Given the description of an element on the screen output the (x, y) to click on. 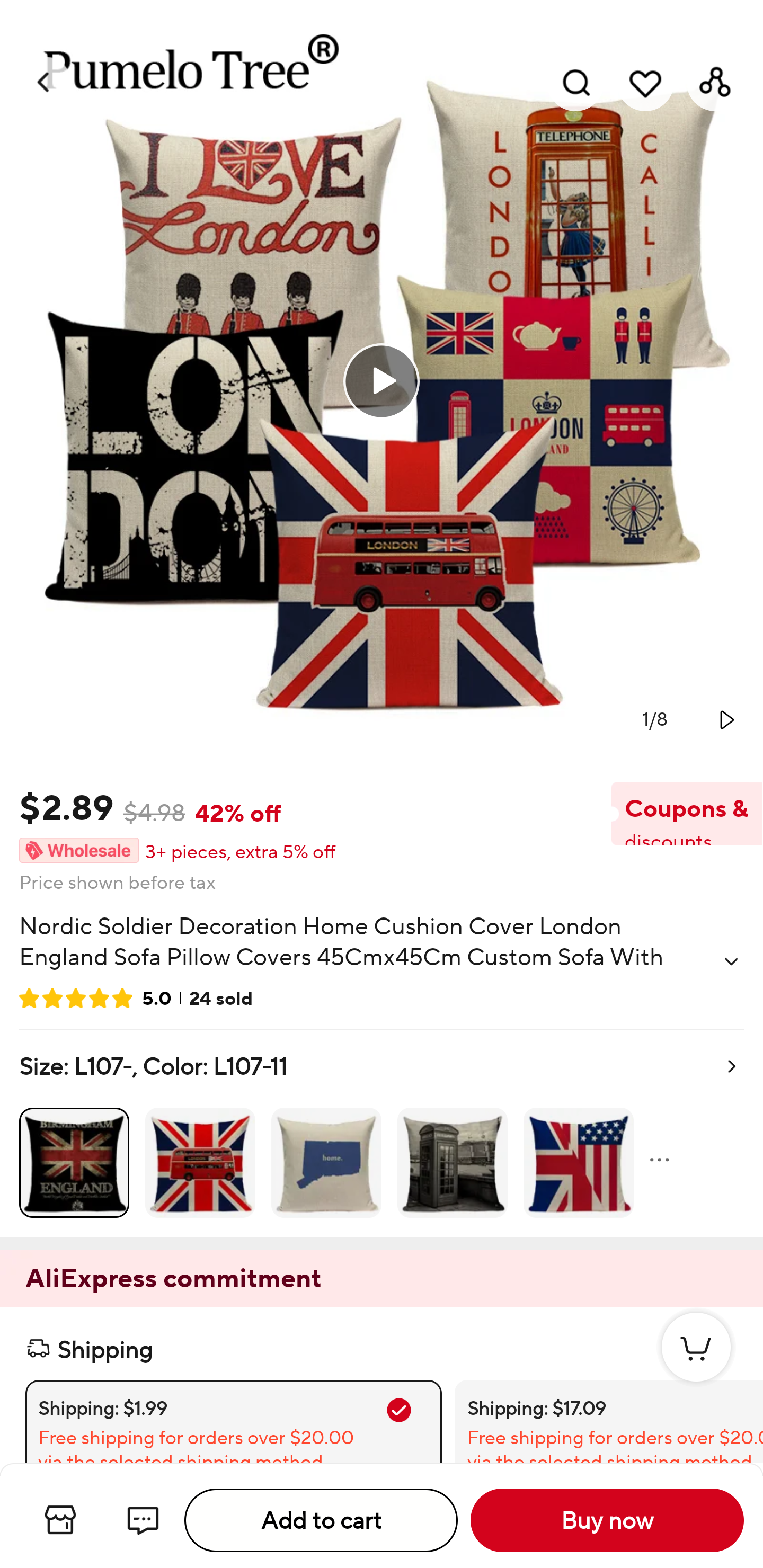
0.0 (381, 381)
Navigate up (44, 82)
 (724, 719)
 (730, 960)
Size: L107-, Color: L107-11  (381, 1133)
Add to cart (320, 1520)
Buy now (606, 1520)
